Given the description of an element on the screen output the (x, y) to click on. 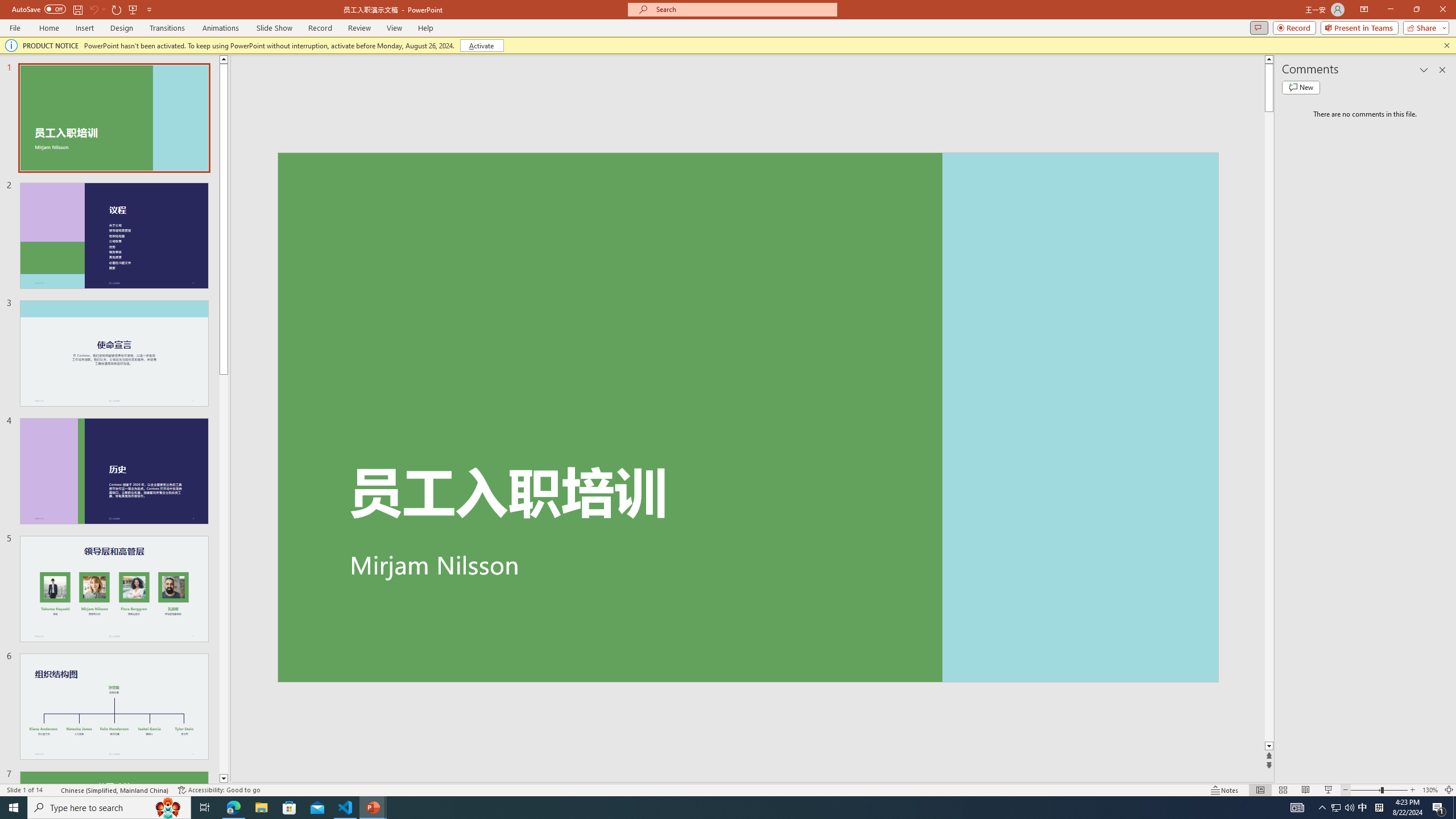
Close this message (1446, 45)
Accessibility Checker Accessibility: Good to go (218, 790)
